Given the description of an element on the screen output the (x, y) to click on. 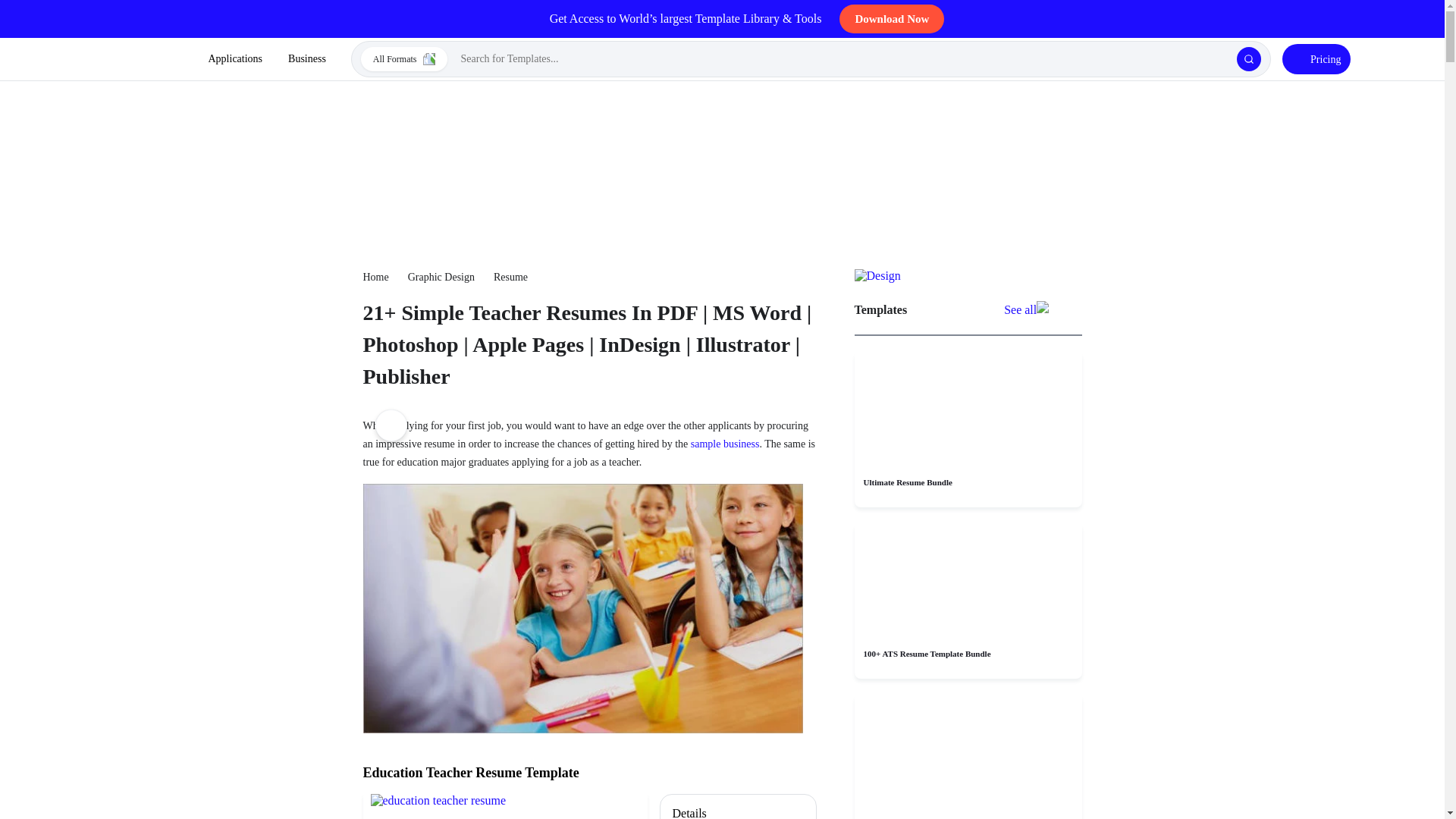
Template.net (141, 59)
Pricing (1315, 59)
Download Now (891, 18)
